Given the description of an element on the screen output the (x, y) to click on. 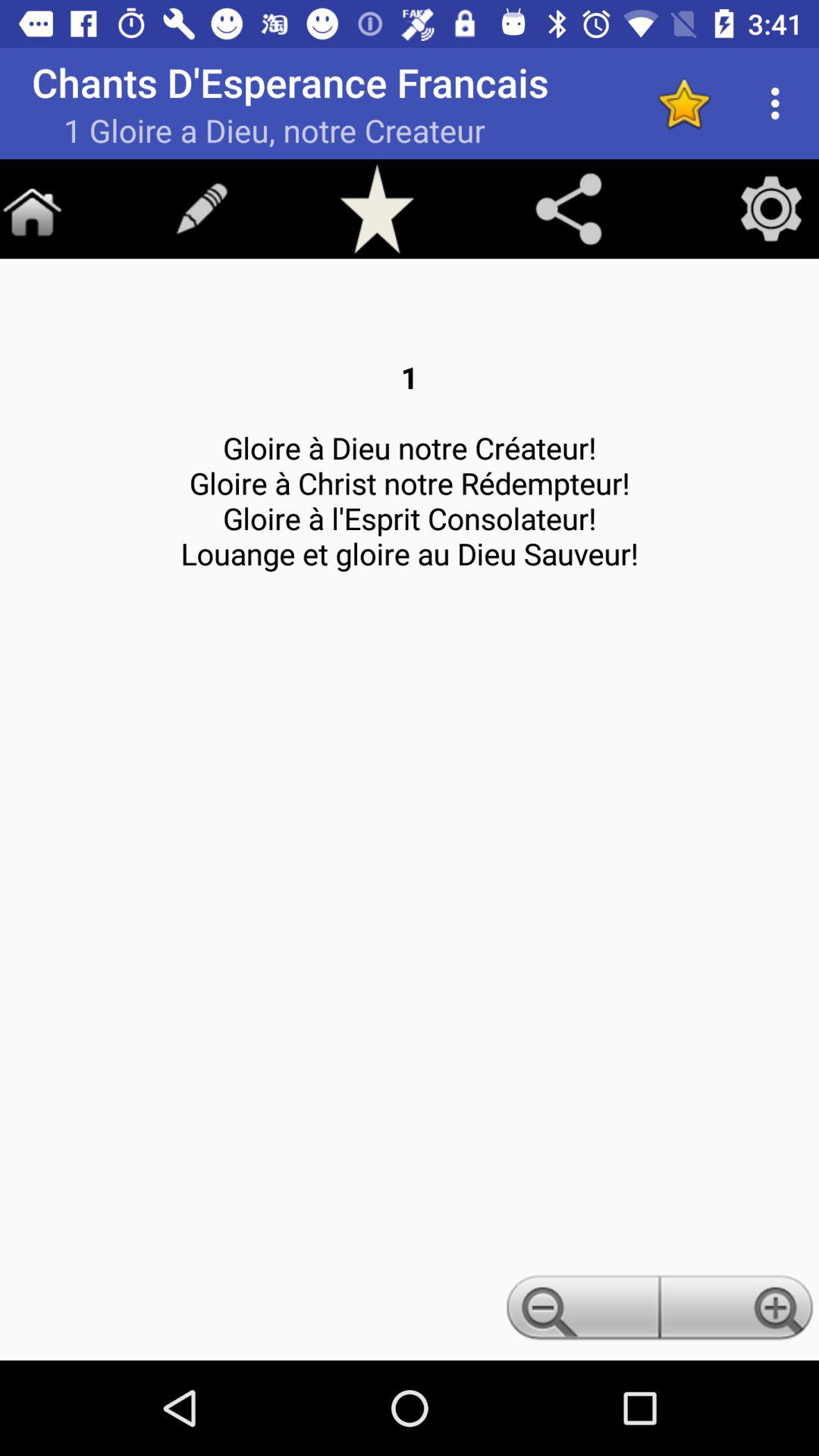
icon for zoom out (579, 1311)
